Given the description of an element on the screen output the (x, y) to click on. 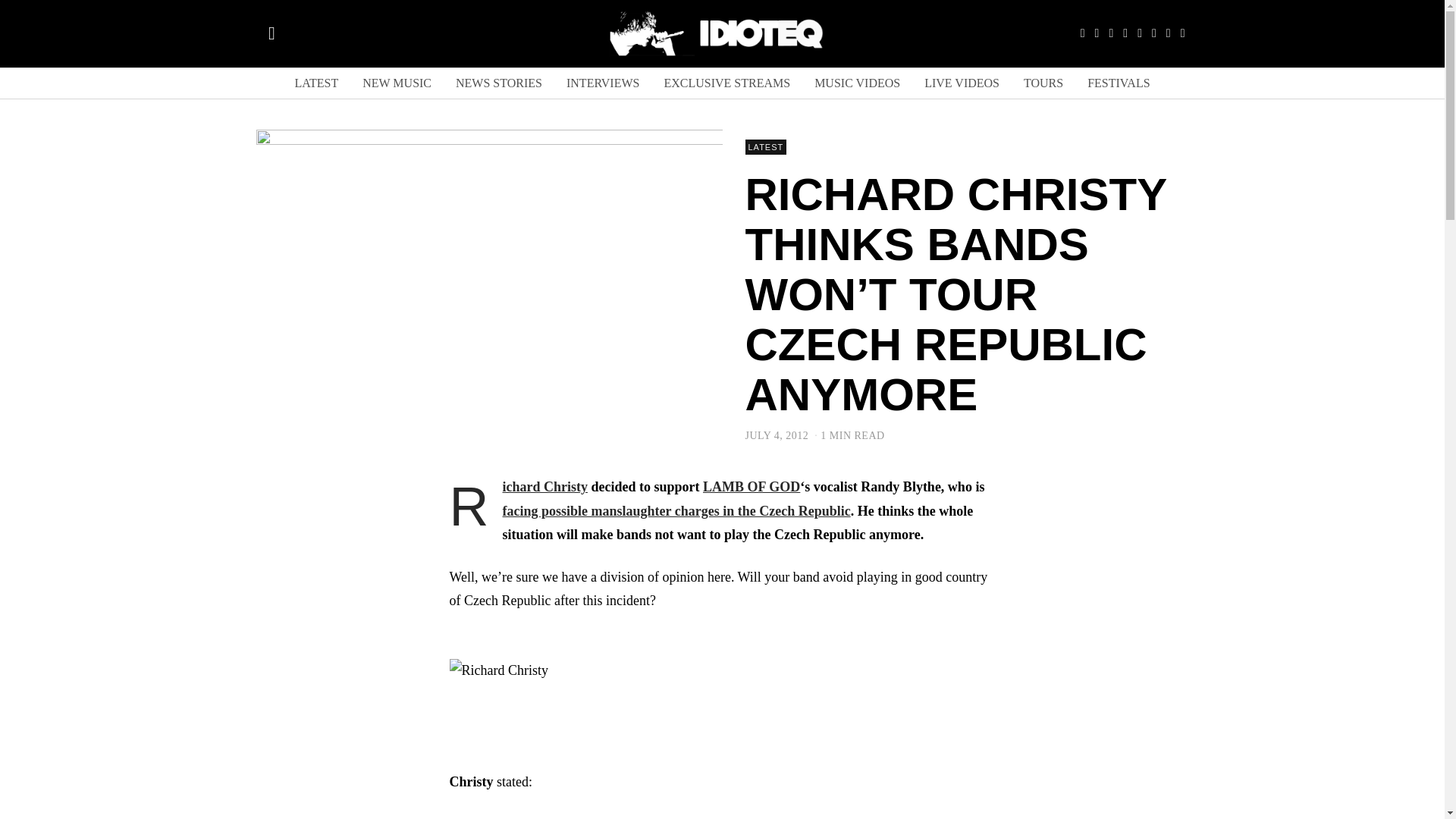
FESTIVALS (1118, 82)
LATEST (316, 82)
Exclusive Interviews with DIY artists (602, 82)
LATEST (765, 147)
Live Performances Videos (962, 82)
INTERVIEWS (602, 82)
LIVE VIDEOS (962, 82)
Latest Articles from All Categories (316, 82)
NEWS STORIES (499, 82)
Richard Christy (545, 486)
MUSIC VIDEOS (857, 82)
LAMB OF GOD (751, 486)
TOURS (1043, 82)
Official Music Videos (857, 82)
Music Festivals (1118, 82)
